Given the description of an element on the screen output the (x, y) to click on. 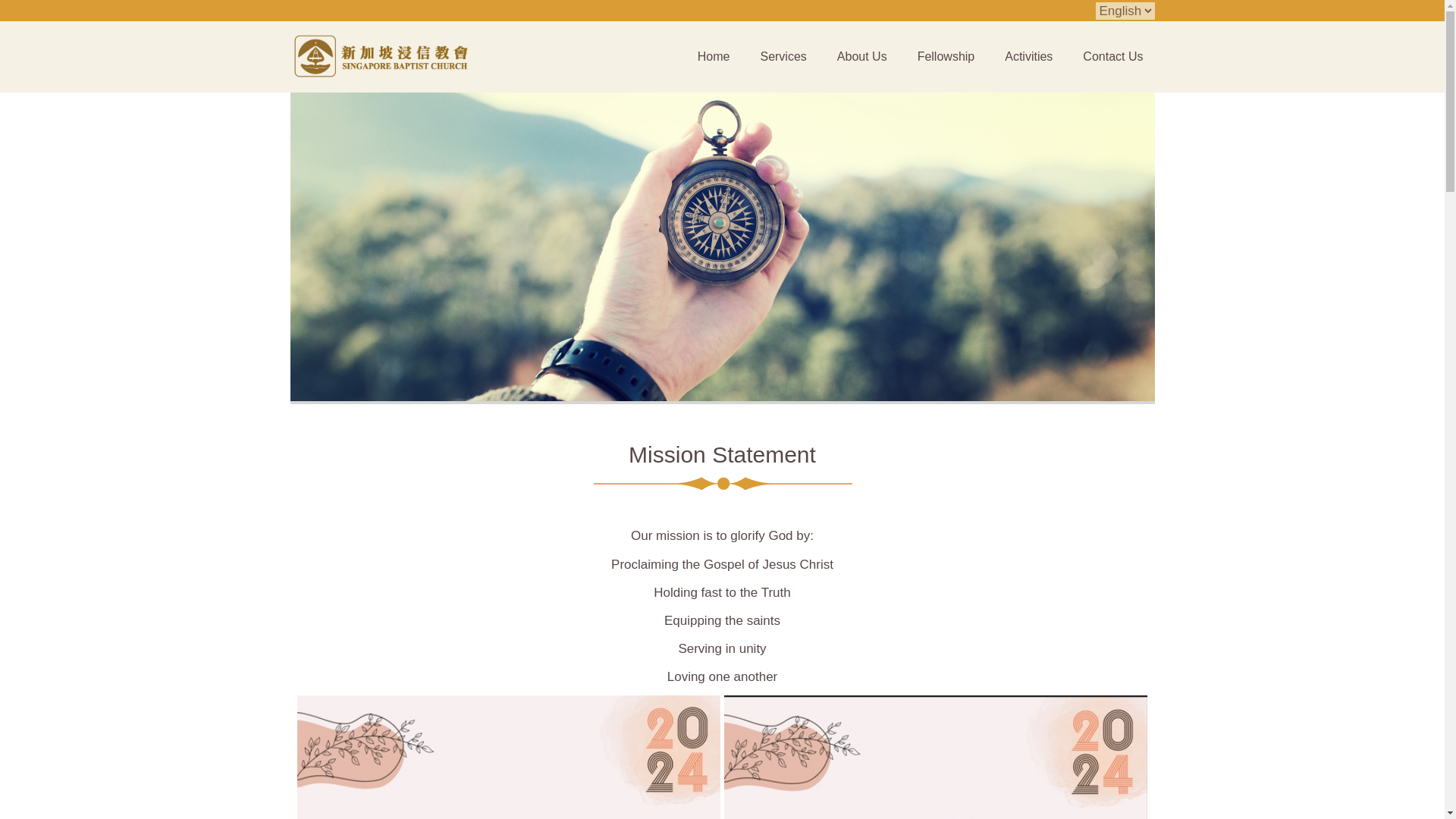
Activities (1028, 56)
Home (713, 56)
Fellowship (946, 56)
About Us (861, 56)
Services (782, 56)
Contact Us (1112, 56)
